Given the description of an element on the screen output the (x, y) to click on. 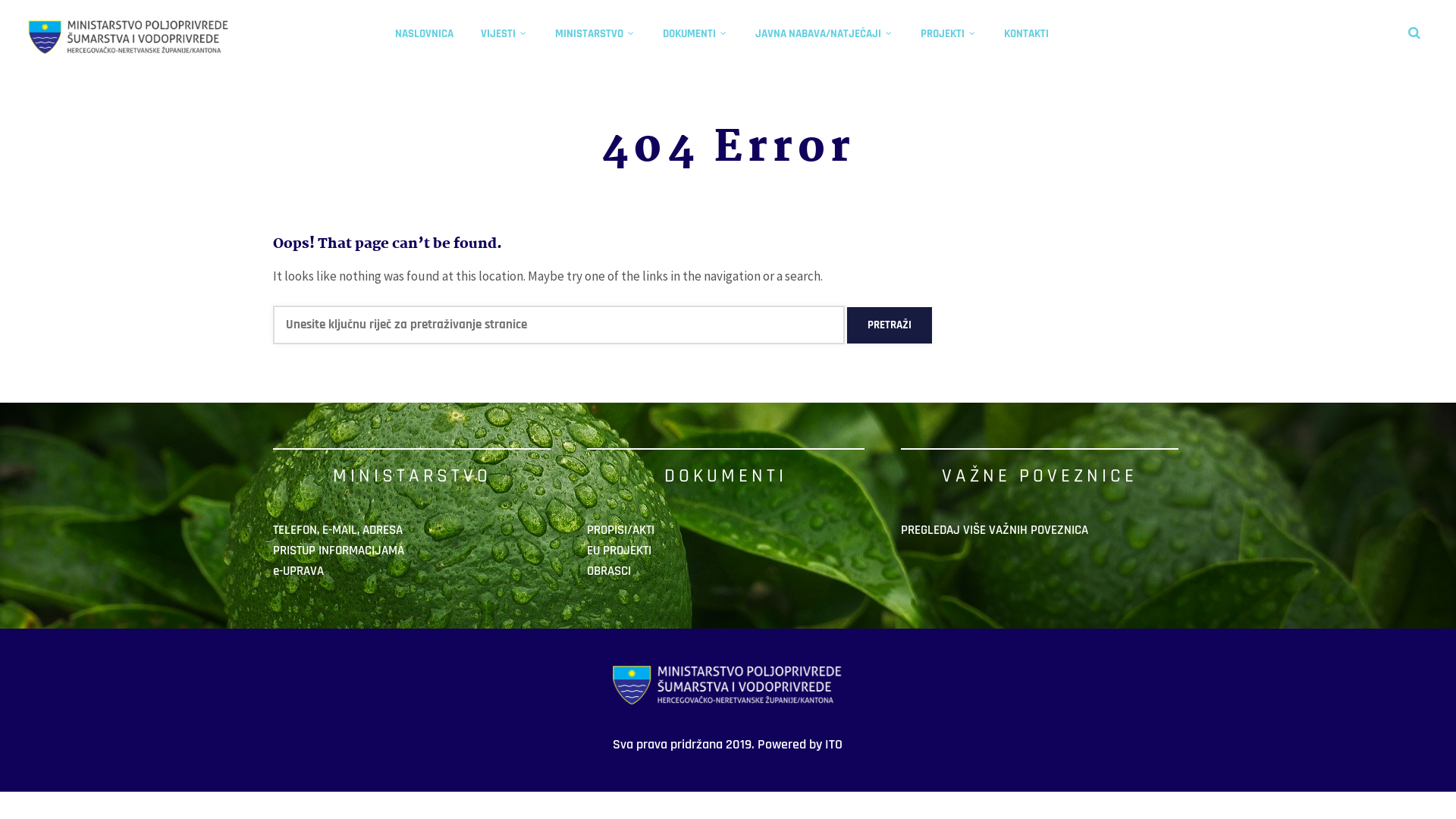
TELEFON, E-MAIL, ADRESA Element type: text (337, 529)
PROJEKTI Element type: text (947, 33)
DOKUMENTI Element type: text (694, 33)
MINISTARSTVO Element type: text (594, 33)
VIJESTI Element type: text (503, 33)
EU PROJEKTI Element type: text (618, 550)
e-UPRAVA Element type: text (298, 570)
MPSV-HNZ-K Element type: hover (128, 34)
OBRASCI Element type: text (608, 570)
PRISTUP INFORMACIJAMA Element type: text (338, 550)
PROPISI/AKTI Element type: text (620, 529)
NASLOVNICA Element type: text (424, 33)
KONTAKTI Element type: text (1025, 33)
ITO Element type: text (833, 744)
